Given the description of an element on the screen output the (x, y) to click on. 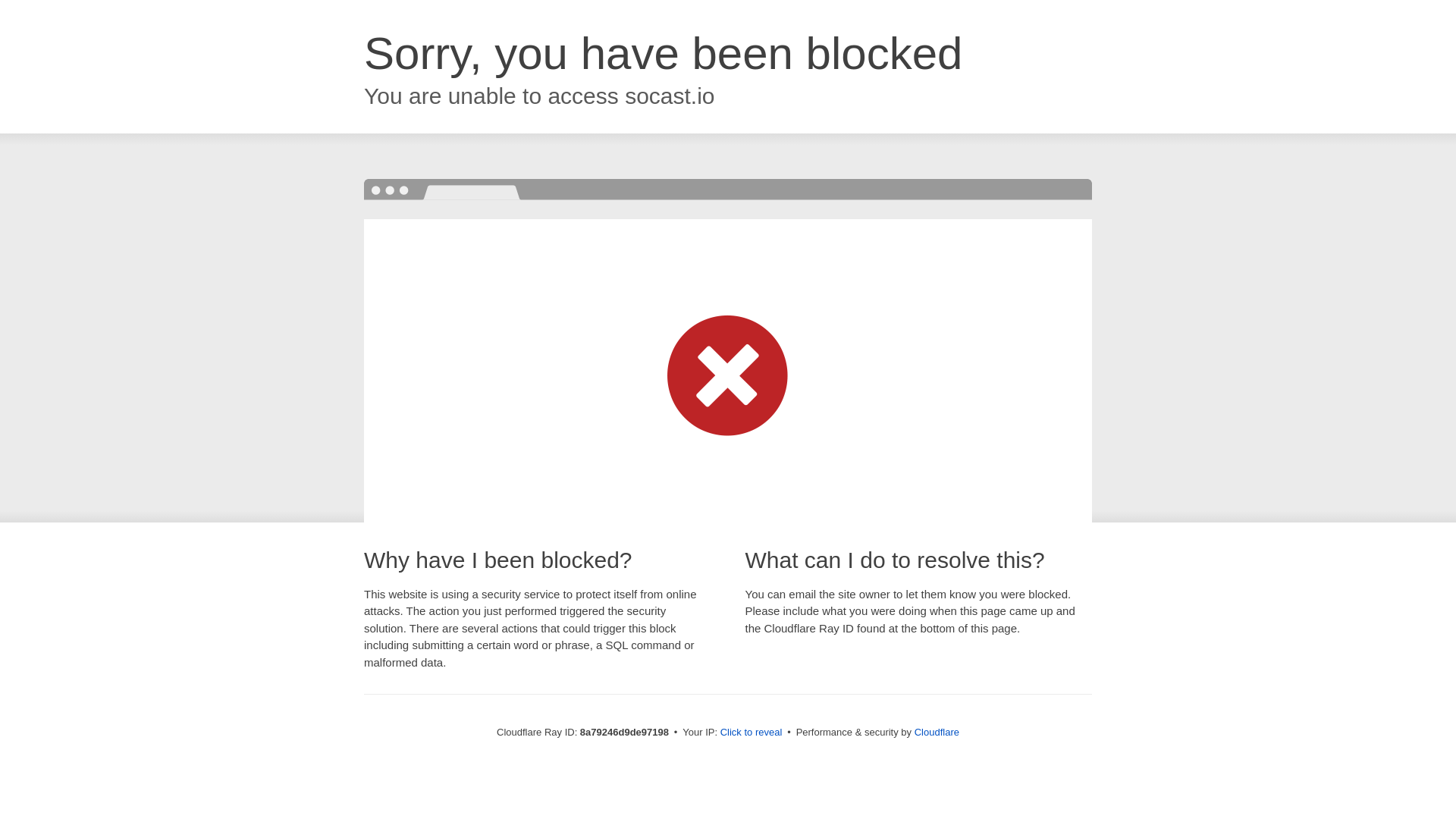
Cloudflare (936, 731)
Click to reveal (751, 732)
